Given the description of an element on the screen output the (x, y) to click on. 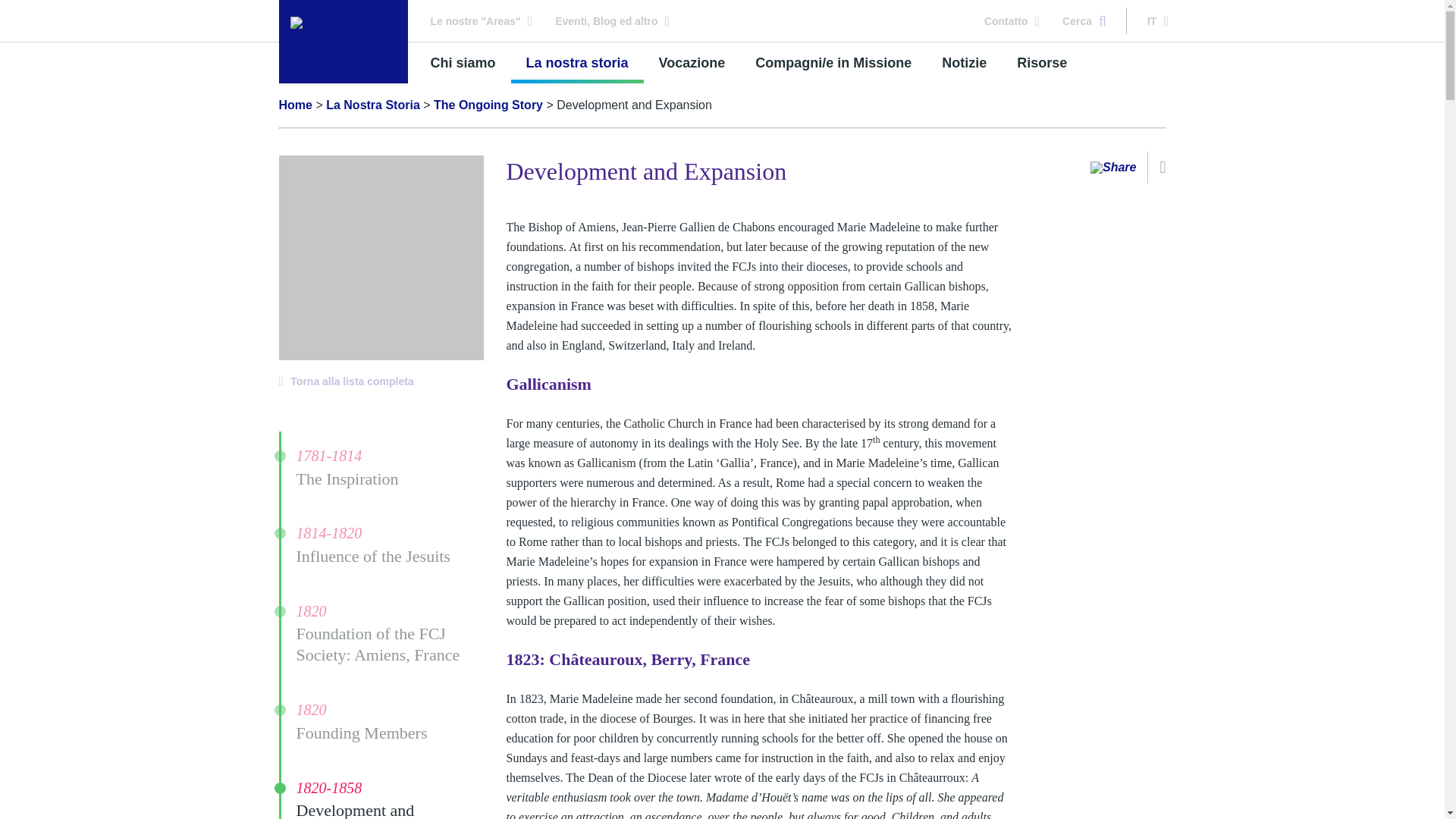
Eventi, Blog ed altro (611, 20)
Contatto (1011, 20)
IT (1157, 20)
Le nostre "Areas" (481, 20)
Contatto (1011, 20)
Cerca (1084, 20)
